Given the description of an element on the screen output the (x, y) to click on. 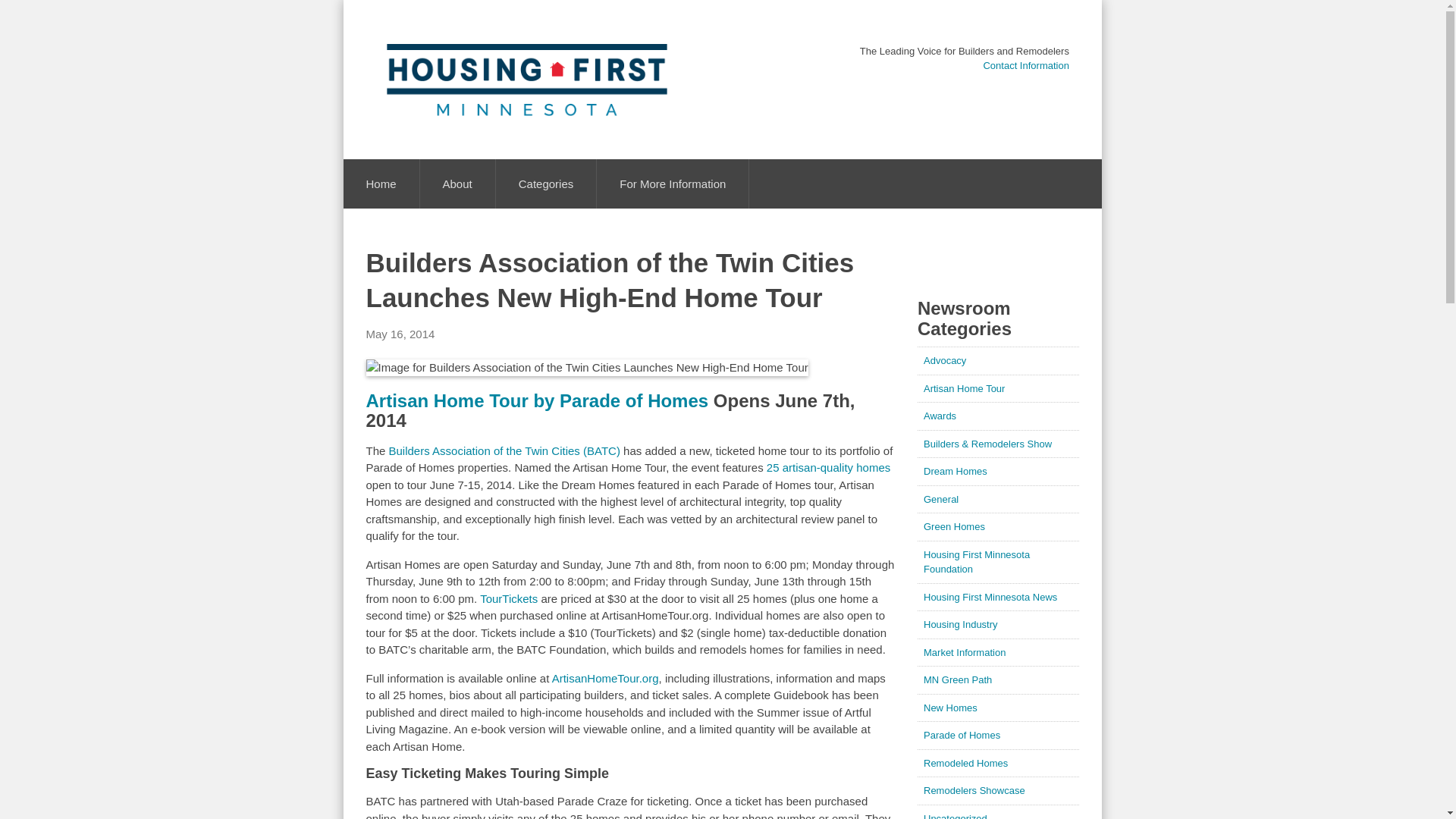
Remodelers Showcase (511, 499)
Housing Industry (511, 405)
Home (511, 66)
Fact Sheet (511, 109)
Categories (546, 183)
TourTickets (508, 598)
Categories (511, 239)
Contact Information (1025, 65)
Awards (511, 288)
For More Information (511, 548)
About (457, 183)
For More Information (672, 183)
Housing First Minnesota News (511, 335)
Advocacy (511, 264)
Home (380, 183)
